Given the description of an element on the screen output the (x, y) to click on. 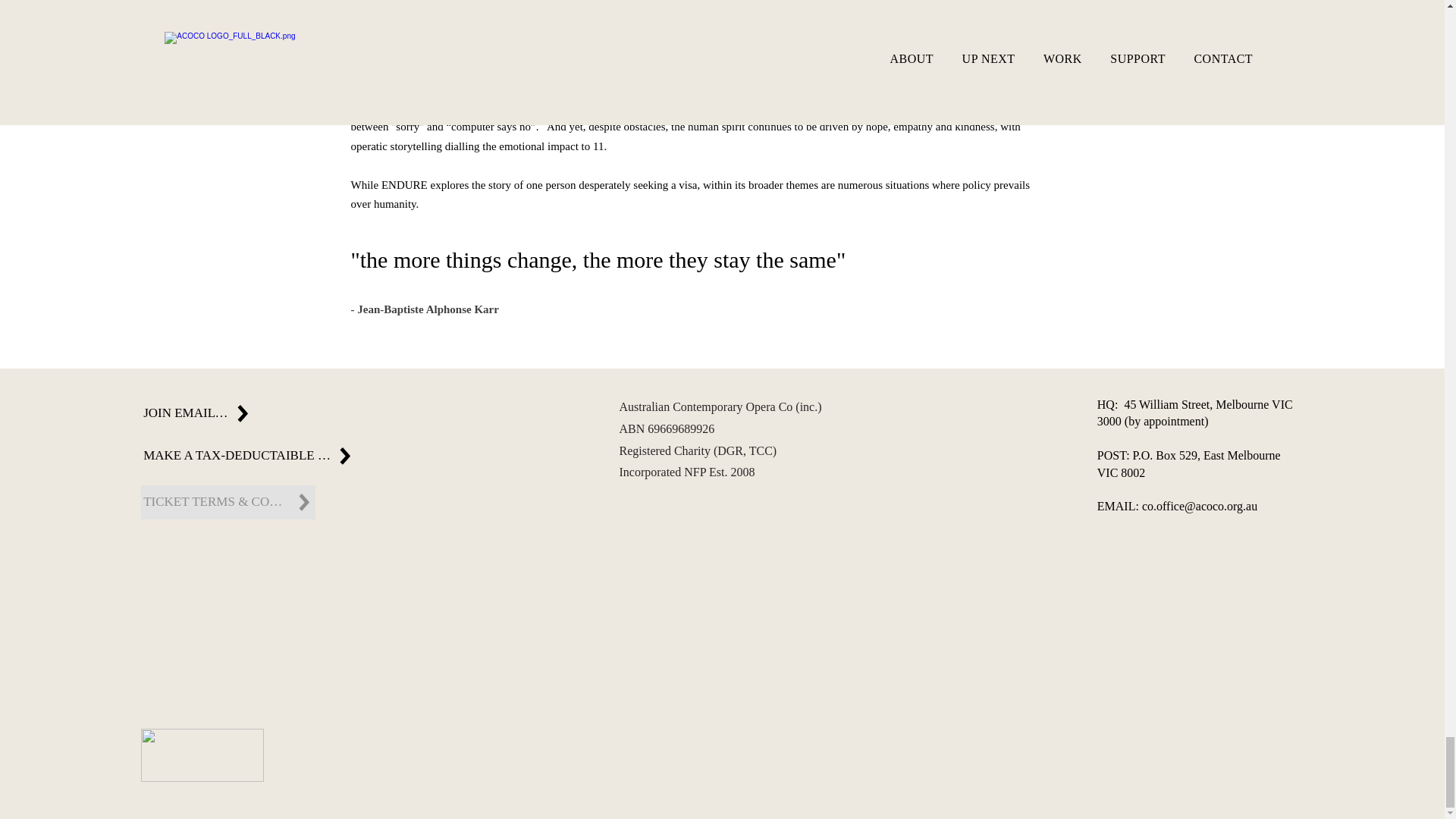
JOIN EMAIL LIST (197, 413)
ACOCO type.png (202, 755)
MAKE A TAX-DEDUCTAIBLE DONATION (248, 455)
